Given the description of an element on the screen output the (x, y) to click on. 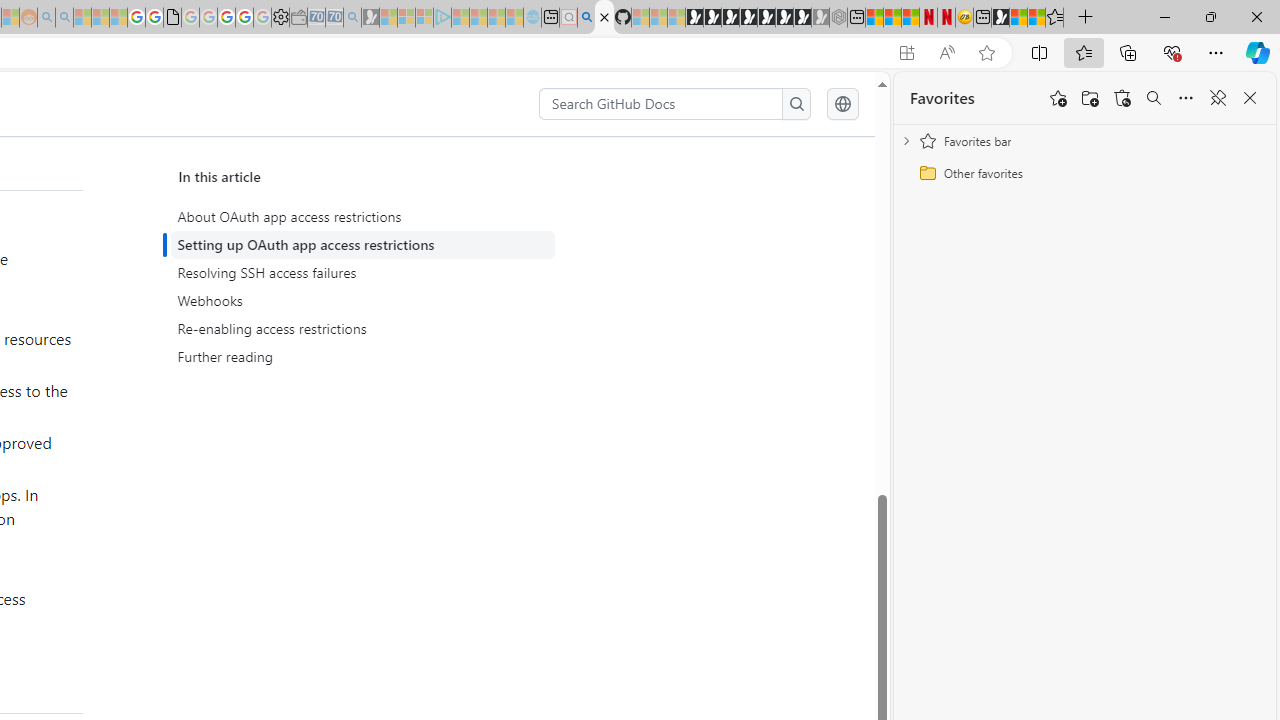
Setting up OAuth app access restrictions (362, 245)
Resolving SSH access failures (365, 273)
